Given the description of an element on the screen output the (x, y) to click on. 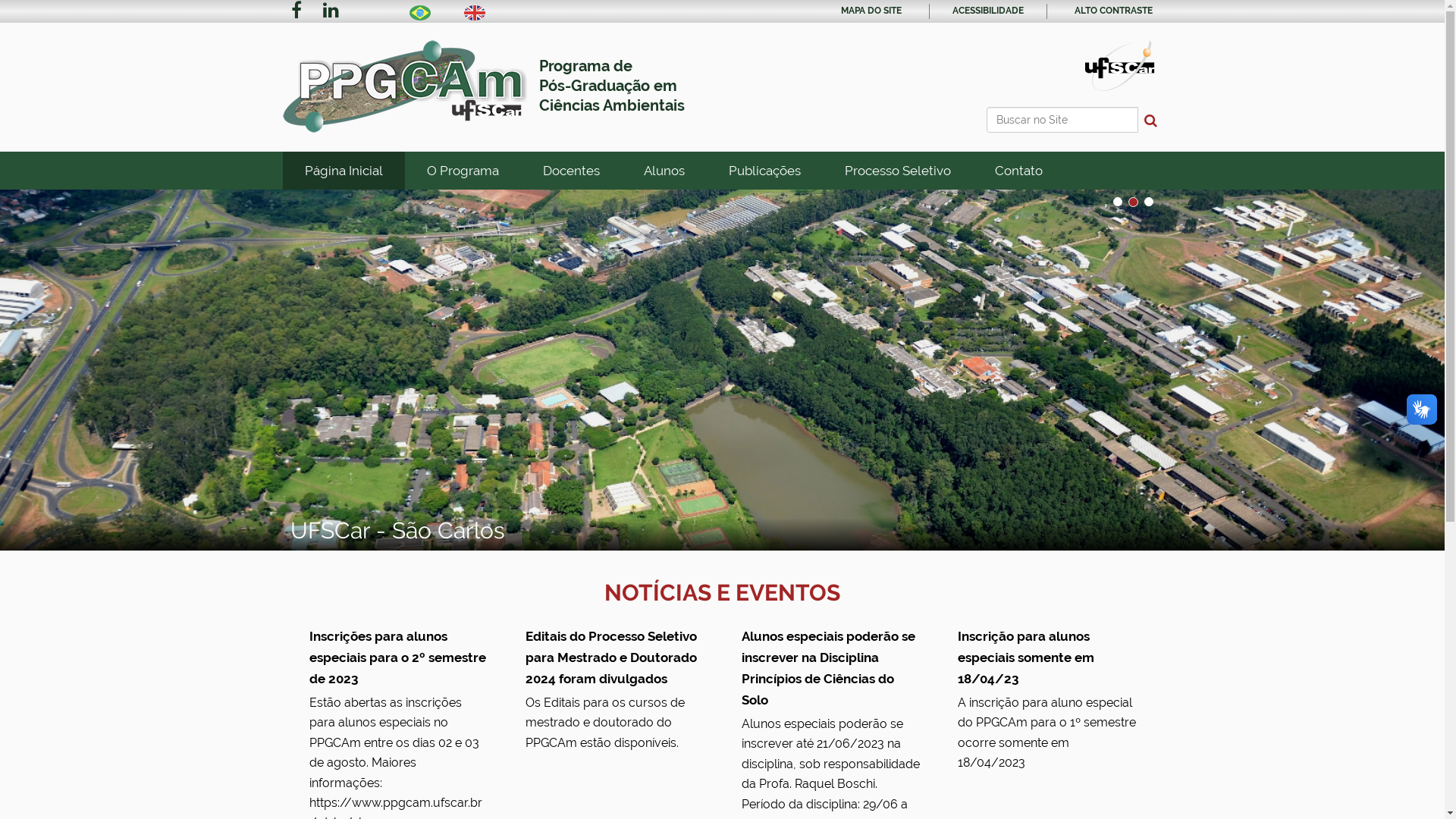
MAPA DO SITE Element type: text (870, 10)
Buscar no Site Element type: hover (1062, 119)
English Element type: hover (474, 10)
English Element type: hover (474, 12)
ACESSIBILIDADE Element type: text (987, 10)
Docentes Element type: text (570, 170)
O Programa Element type: text (462, 170)
ALTO CONTRASTE Element type: text (1112, 10)
Facebook PPGCaml Element type: hover (296, 11)
Alunos Element type: text (663, 170)
LinkedIn PPGCam Element type: hover (330, 11)
Processo Seletivo Element type: text (897, 170)
Portal UFSCar Element type: hover (1119, 64)
Contato Element type: text (1017, 170)
